Given the description of an element on the screen output the (x, y) to click on. 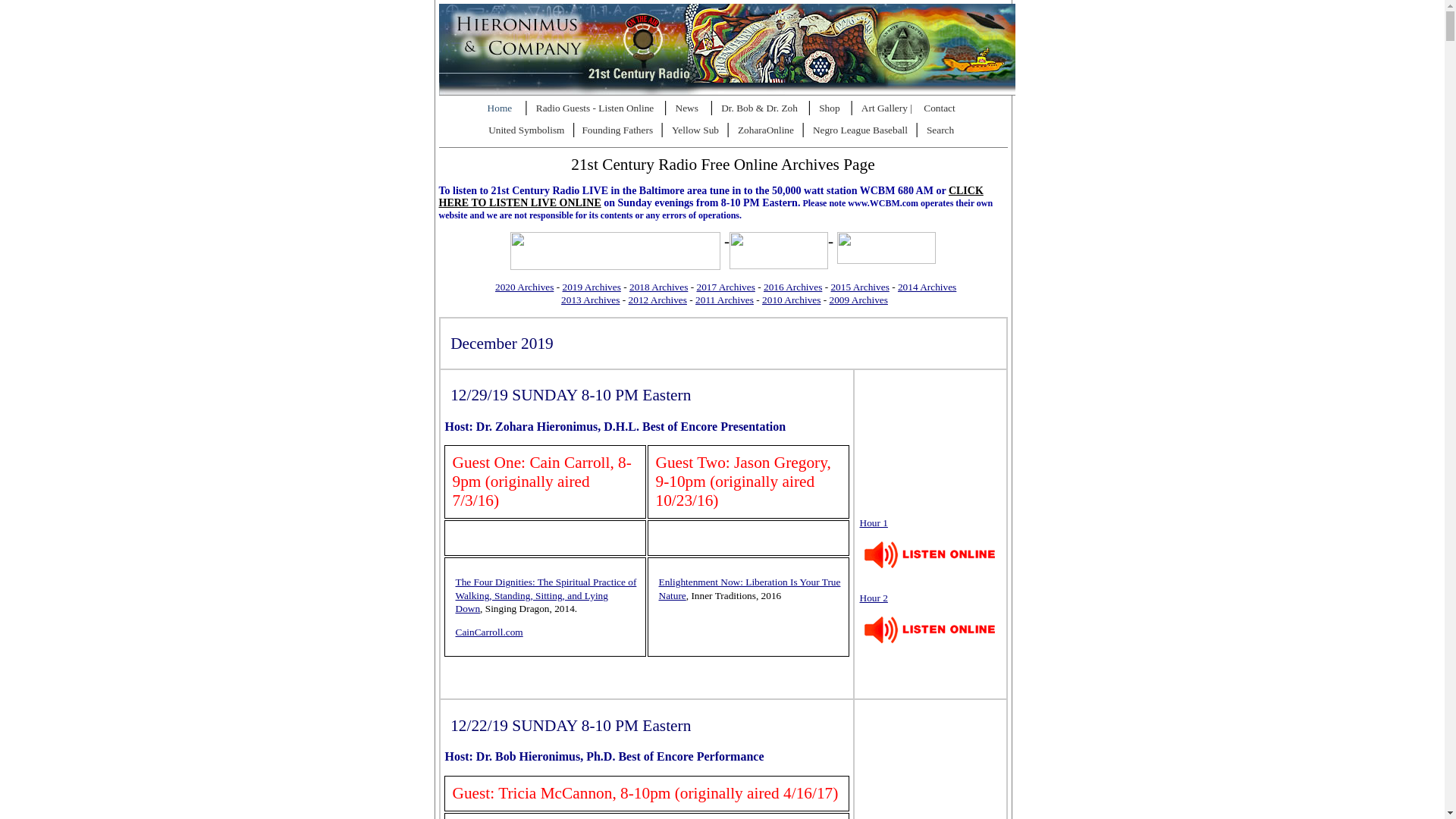
2013 Archives Element type: text (590, 299)
2012 Archives Element type: text (657, 299)
Negro League Baseball Element type: text (862, 131)
2020 Archives Element type: text (524, 286)
CLICK HERE TO LISTEN LIVE ONLINE Element type: text (710, 196)
2011 Archives Element type: text (724, 299)
Shop Element type: text (832, 109)
United Symbolism Element type: text (528, 131)
2014 Archives Element type: text (926, 286)
Enlightenment Now: Liberation Is Your True Nature Element type: text (749, 588)
Contact Element type: text (941, 109)
Hour 1 Element type: text (931, 548)
Art Gallery | Element type: text (888, 109)
2018 Archives Element type: text (658, 286)
2016 Archives Element type: text (792, 286)
Founding Fathers Element type: text (618, 131)
Home Element type: text (504, 109)
News Element type: text (689, 109)
Dr. Bob & Dr. Zoh Element type: text (762, 109)
2010 Archives Element type: text (791, 299)
2017 Archives Element type: text (725, 286)
Radio Guests - Listen Online Element type: text (598, 109)
2009 Archives Element type: text (858, 299)
ZoharaOnline Element type: text (767, 131)
2015 Archives Element type: text (859, 286)
CainCarroll.com Element type: text (488, 631)
Hour 2 Element type: text (931, 623)
Yellow Sub Element type: text (697, 131)
2019 Archives Element type: text (591, 286)
Search Element type: text (942, 131)
